Given the description of an element on the screen output the (x, y) to click on. 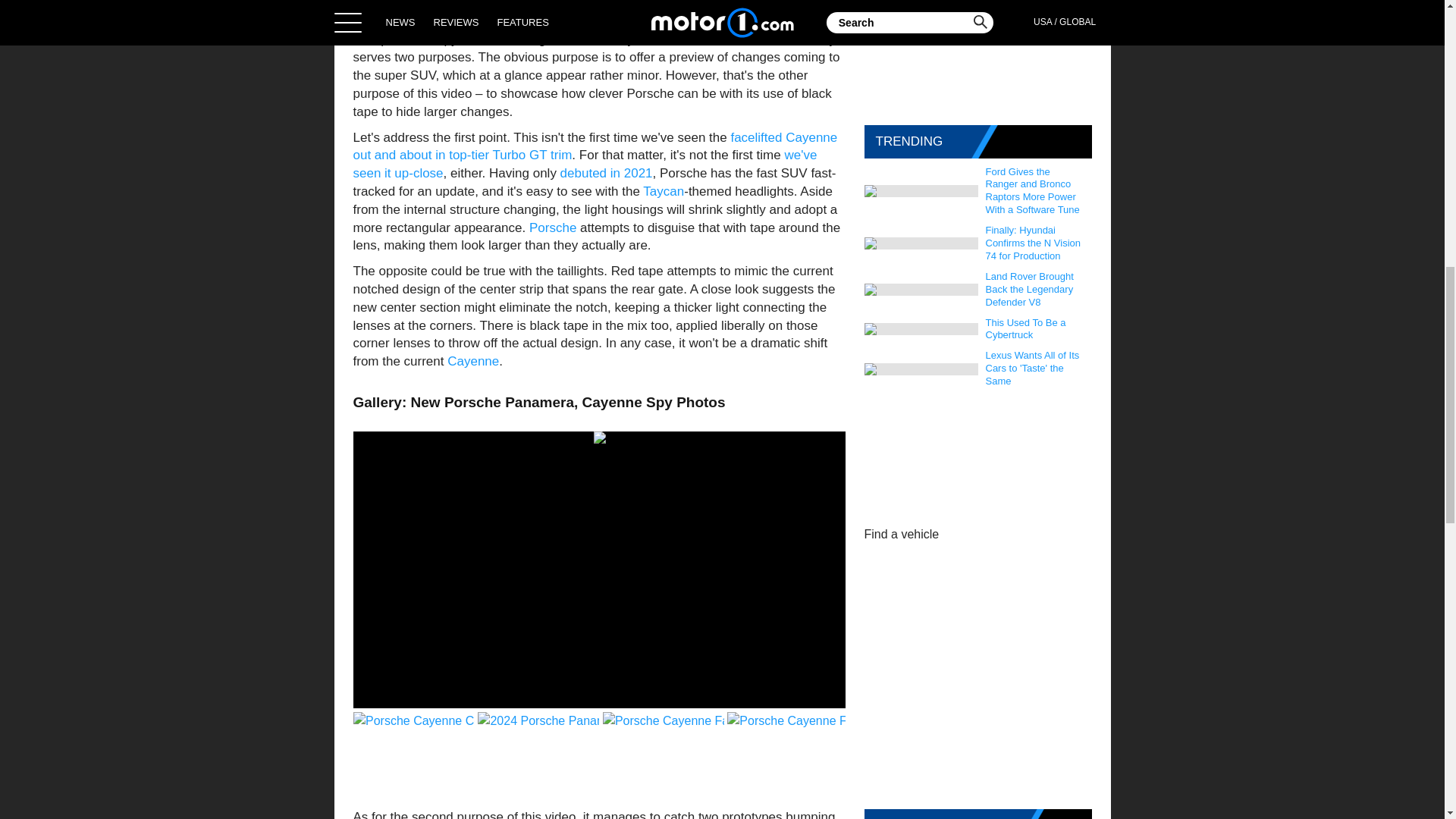
Cayenne (472, 360)
facelifted Cayenne out and about in top-tier Turbo GT trim (595, 146)
Taycan (663, 191)
Porsche (554, 227)
debuted in 2021 (606, 173)
we've seen it up-close (584, 164)
